Given the description of an element on the screen output the (x, y) to click on. 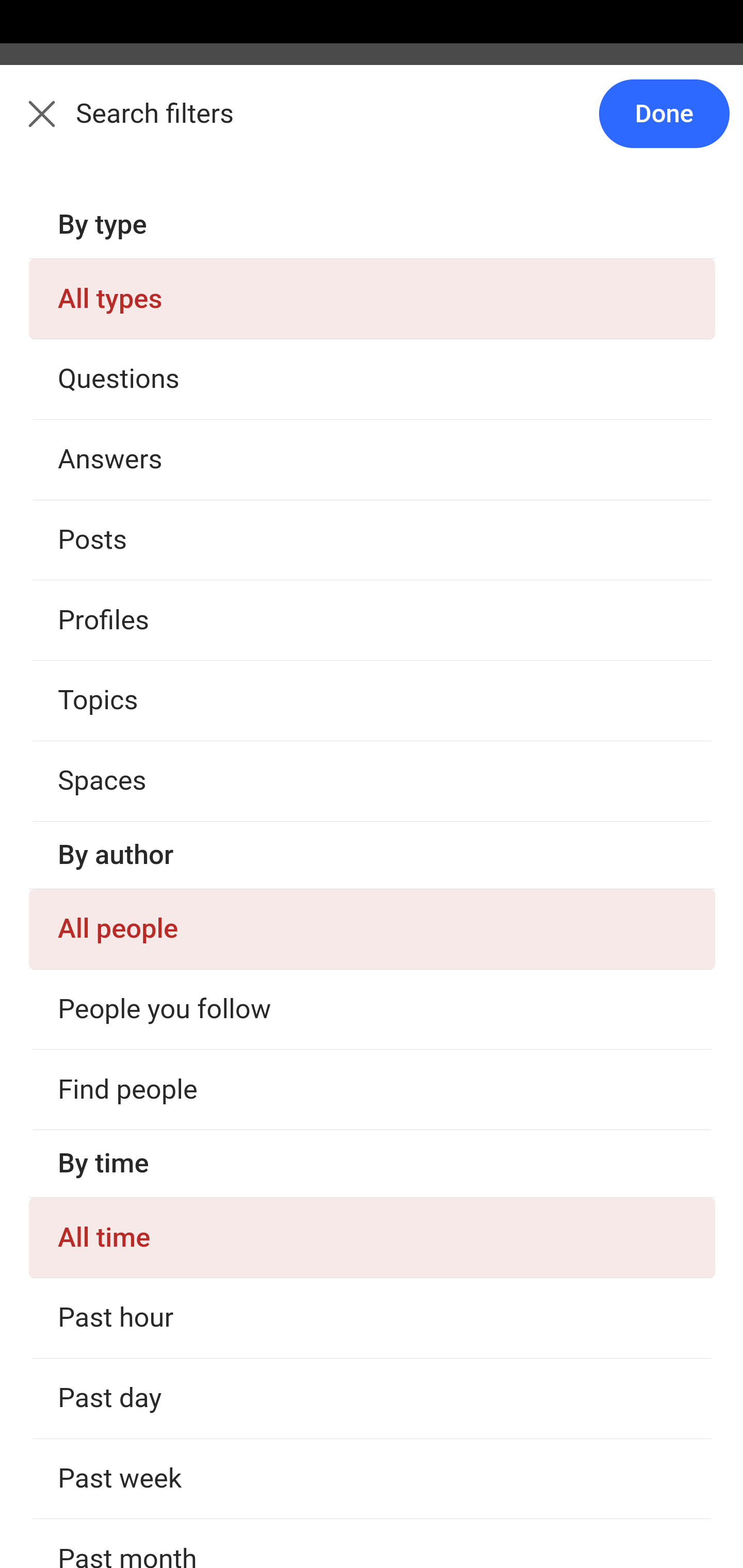
Back Search (371, 125)
Which is better for you, Airtel 5G or Jio 5G? (372, 369)
Answer (125, 475)
830 answers 830  answers (90, 616)
Answer (125, 871)
Do 4G phones support a 5G network? (372, 962)
Which countries are using 5G technology? (372, 1161)
